Given the description of an element on the screen output the (x, y) to click on. 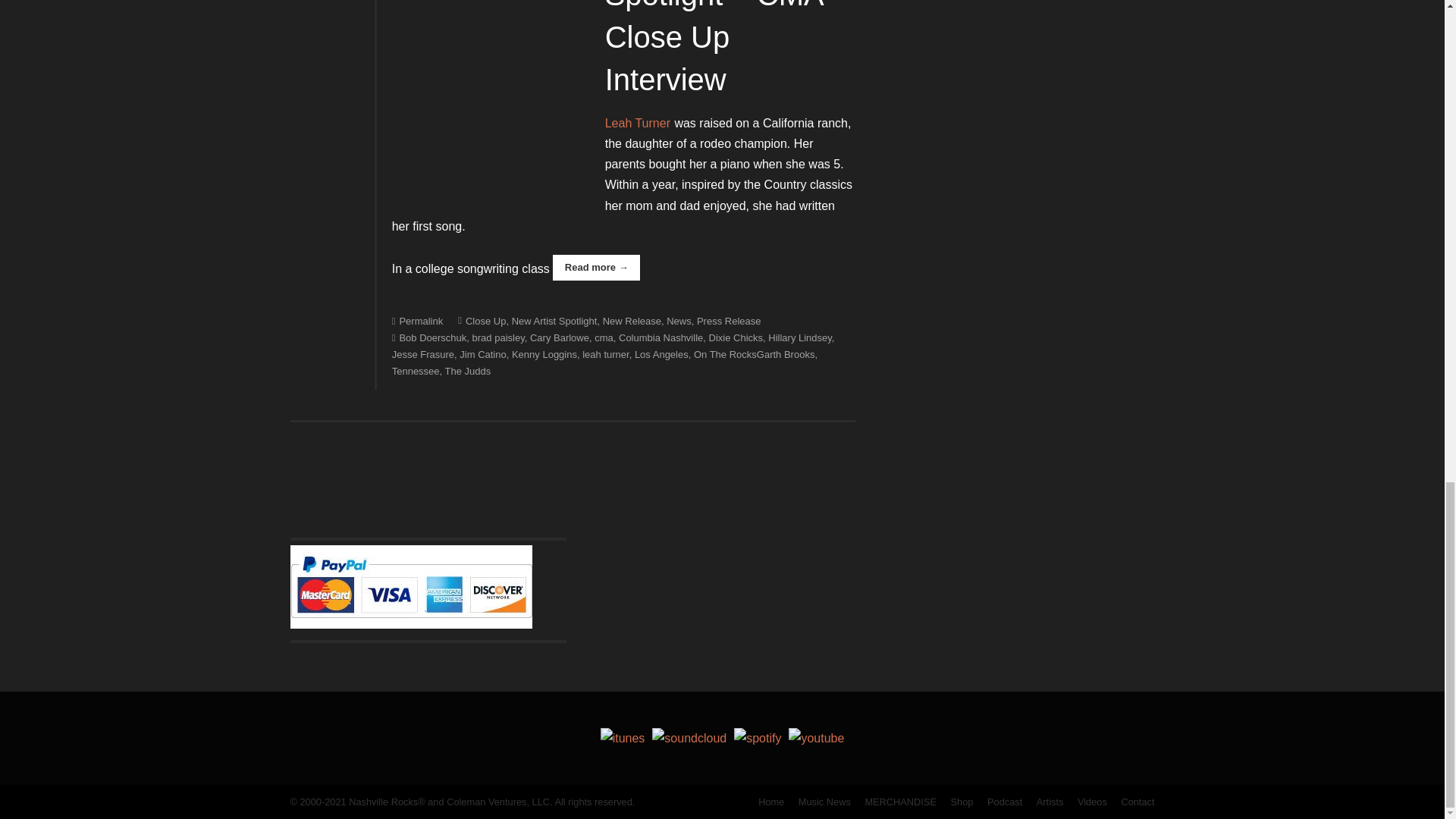
Columbia Nashville (660, 337)
Permalink (417, 320)
Youtube (816, 738)
New Release (631, 320)
Bob Doerschuk (429, 337)
News (678, 320)
Cary Barlowe (559, 337)
New Artist Spotlight (554, 320)
Leah Turner (637, 123)
Press Release (729, 320)
